Given the description of an element on the screen output the (x, y) to click on. 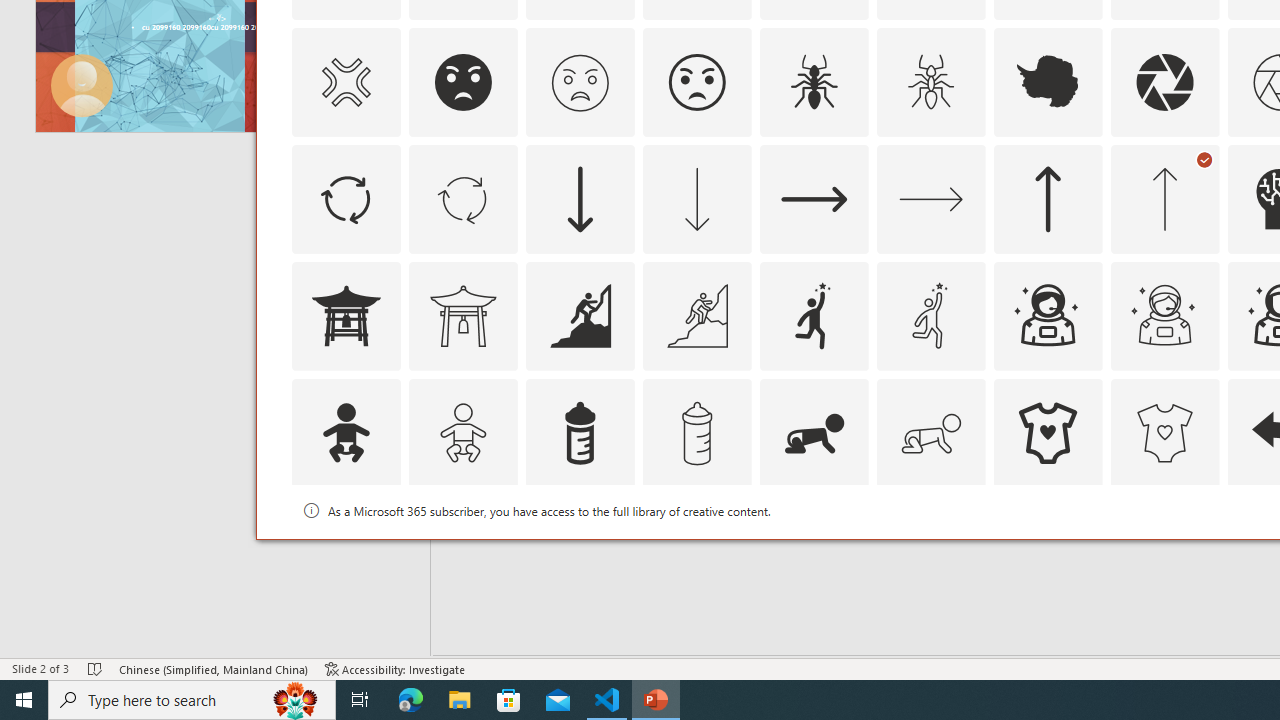
Thumbnail (1204, 511)
AutomationID: Icons_Badge4 (930, 550)
AutomationID: Icons_ArrowDown (579, 198)
AutomationID: Icons_Aspiration1 (813, 316)
AutomationID: Icons_AngryFace (463, 82)
AutomationID: Icons_Badge2 (463, 550)
AutomationID: Icons_Badge2_M (579, 550)
AutomationID: Icons_AsianTemple1_M (463, 316)
